Given the description of an element on the screen output the (x, y) to click on. 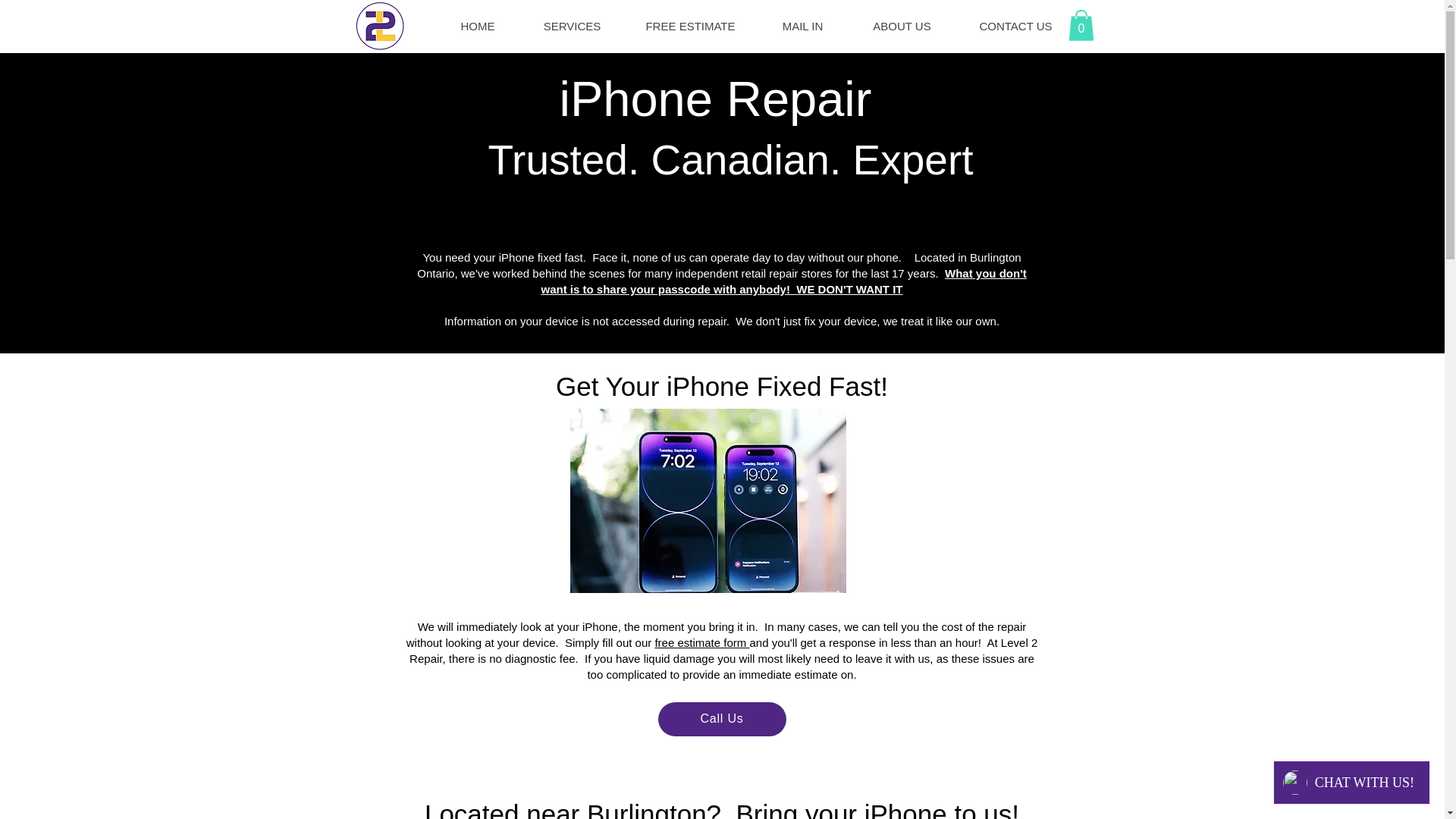
CONTACT US (1015, 26)
ABOUT US (901, 26)
Call Us (722, 718)
FREE ESTIMATE (689, 26)
MAIL IN (802, 26)
HOME (477, 26)
free estimate form (701, 642)
